Given the description of an element on the screen output the (x, y) to click on. 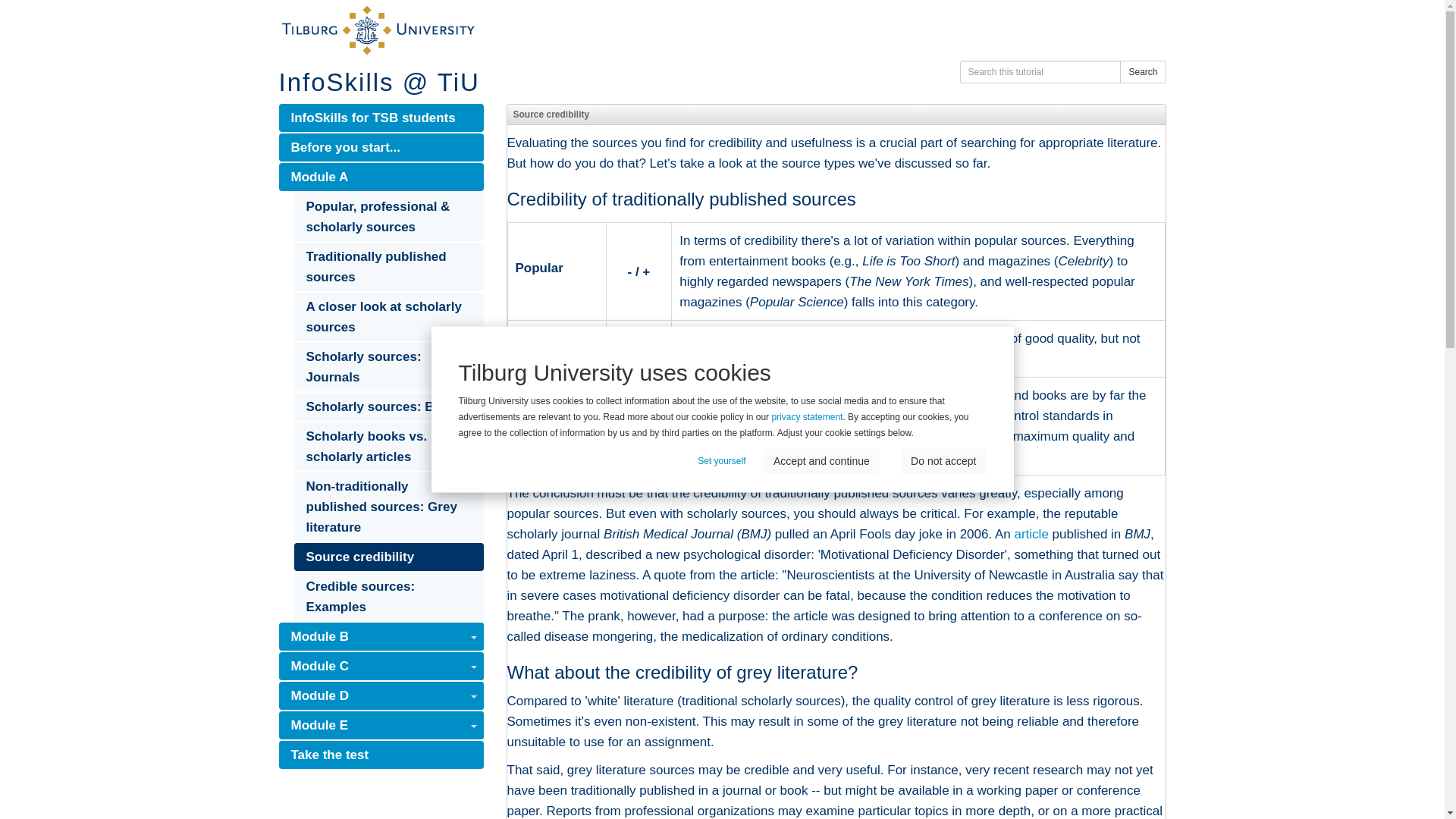
InfoSkills for TSB students (381, 117)
Module C (381, 665)
Credible sources: Examples (388, 596)
Scholarly sources: Books (388, 406)
Module A (381, 176)
Source credibility (388, 556)
Scholarly books vs. scholarly articles (388, 446)
Module B (381, 636)
Before you start... (381, 147)
Scholarly sources: Journals (388, 367)
